Given the description of an element on the screen output the (x, y) to click on. 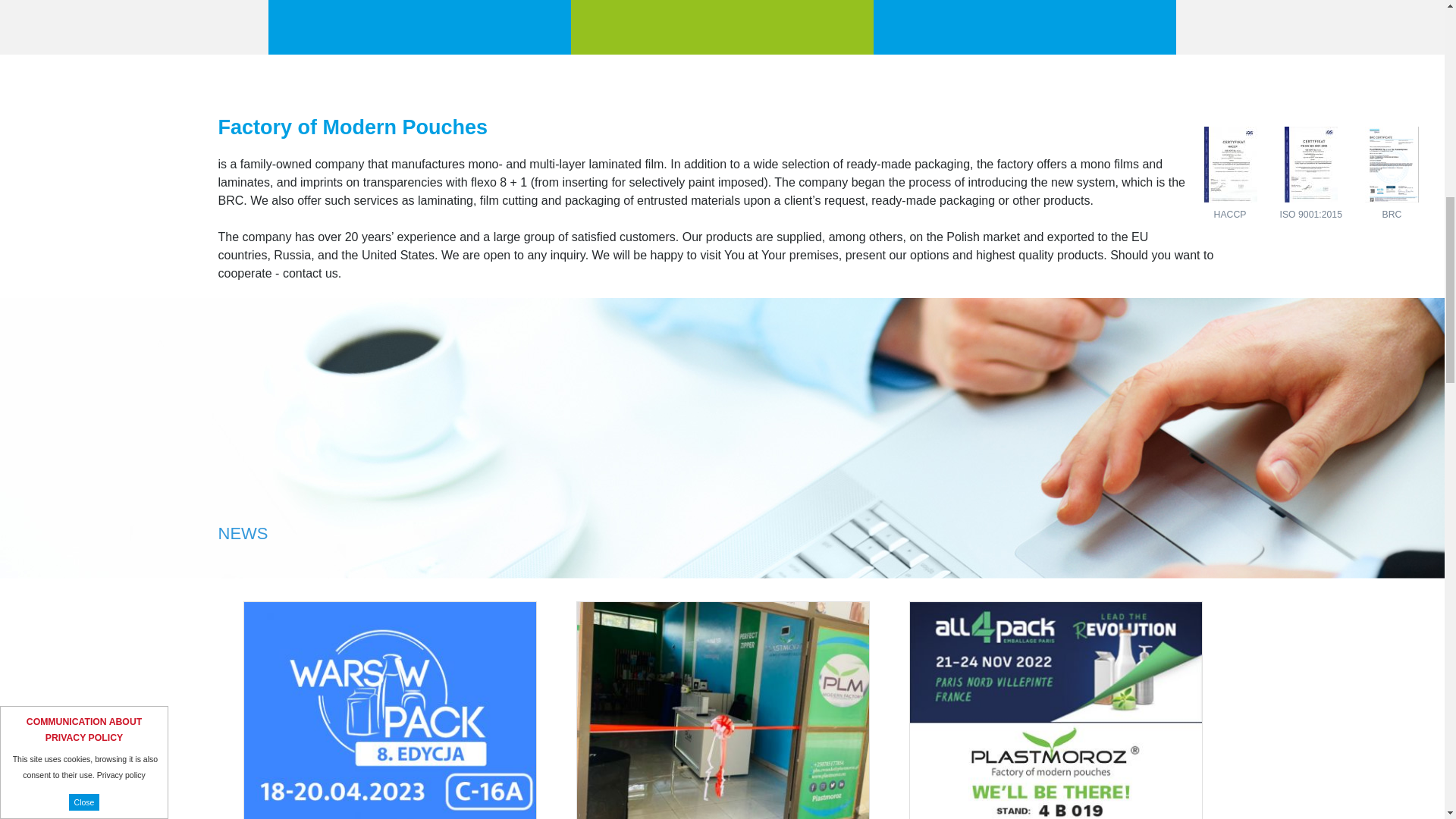
HACCP (1230, 198)
ISO 9001:2015 (1311, 198)
BRC (1391, 198)
